Given the description of an element on the screen output the (x, y) to click on. 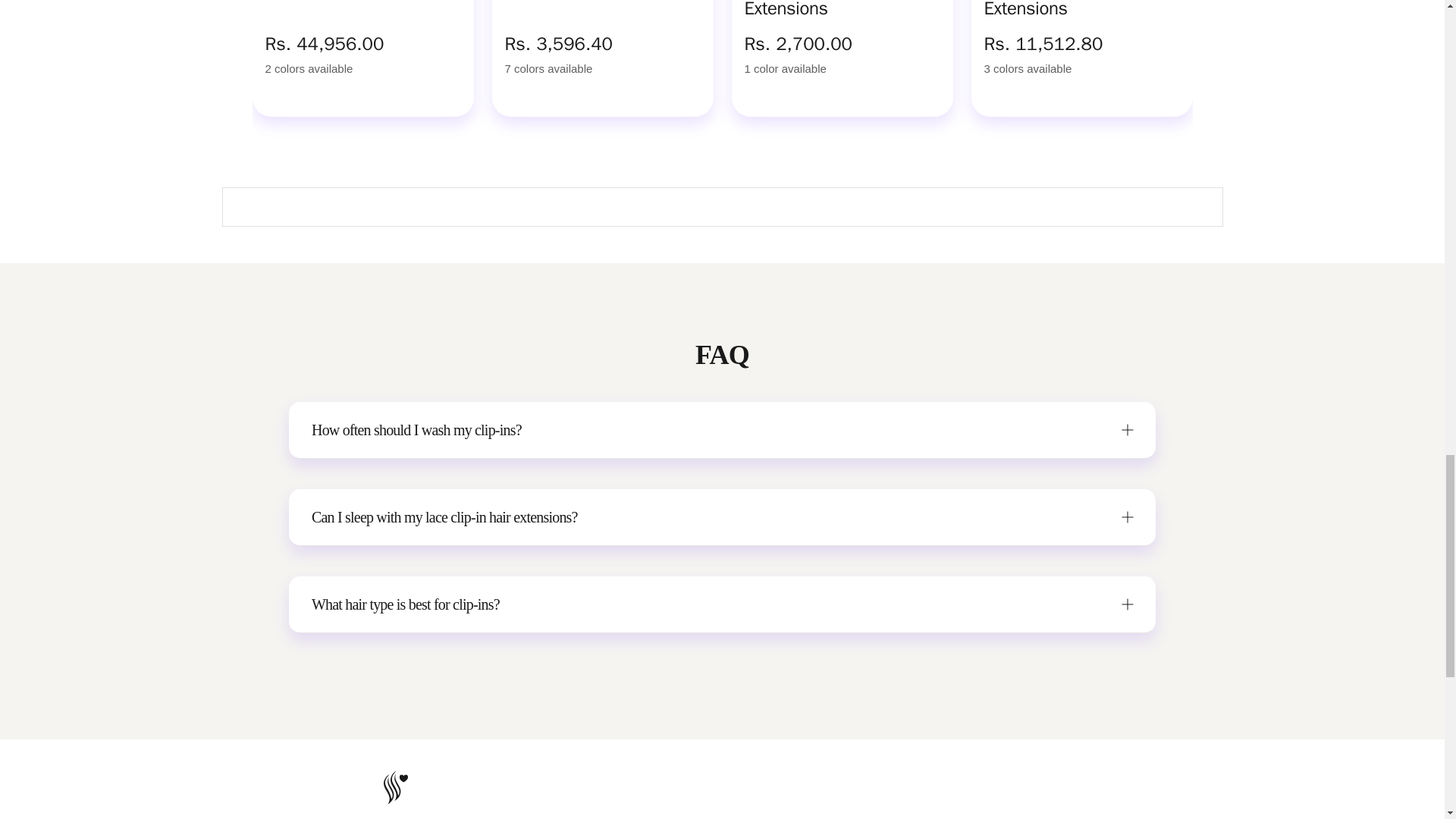
ETHICALLY SOURCED REMY INDIAN HAIR (721, 794)
